Given the description of an element on the screen output the (x, y) to click on. 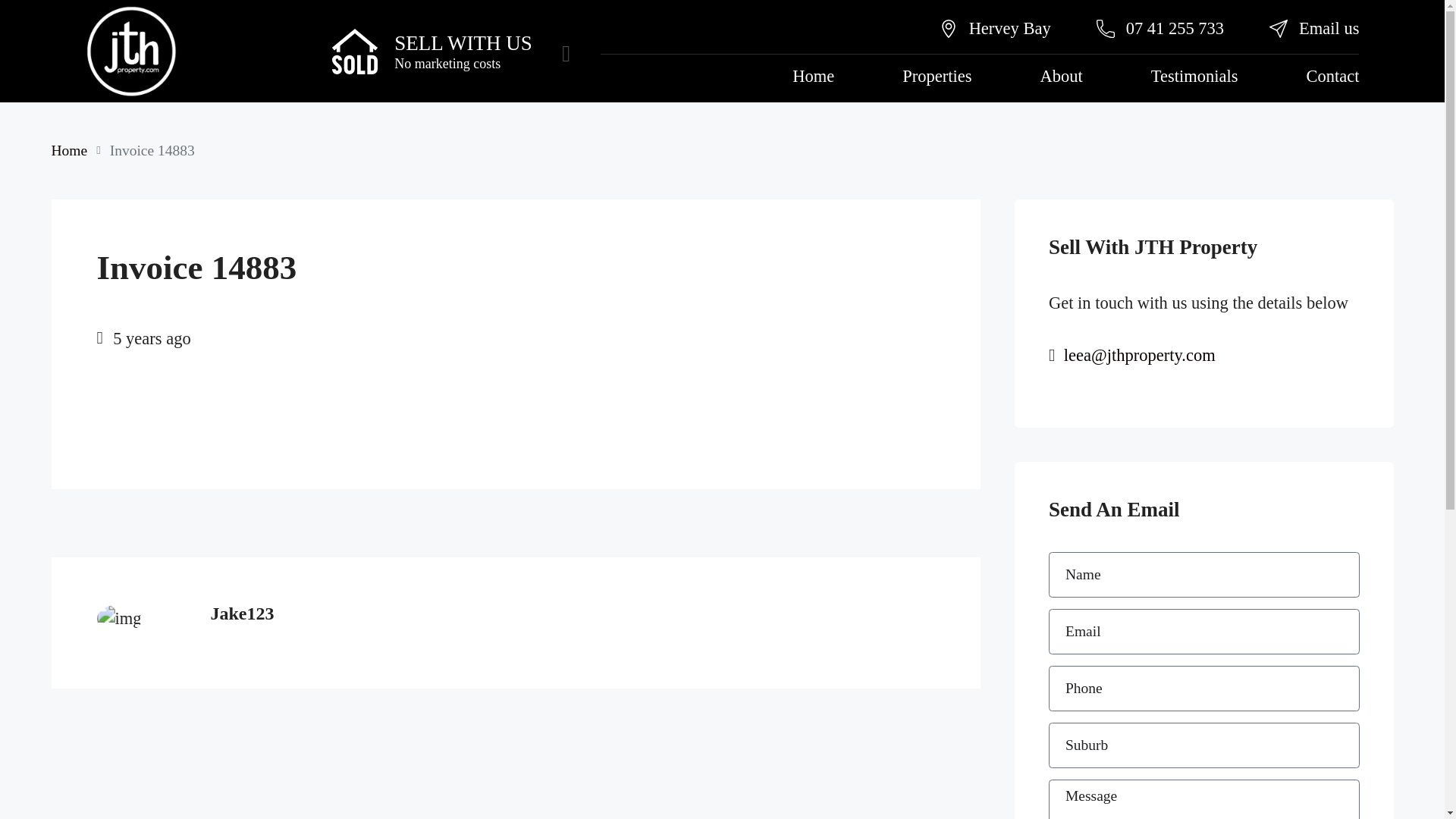
Properties (625, 51)
Home (542, 51)
About (706, 51)
Contact (887, 51)
Email us (875, 18)
SELL WITH US (309, 28)
Testimonials (795, 51)
jth-logo (113, 727)
